Given the description of an element on the screen output the (x, y) to click on. 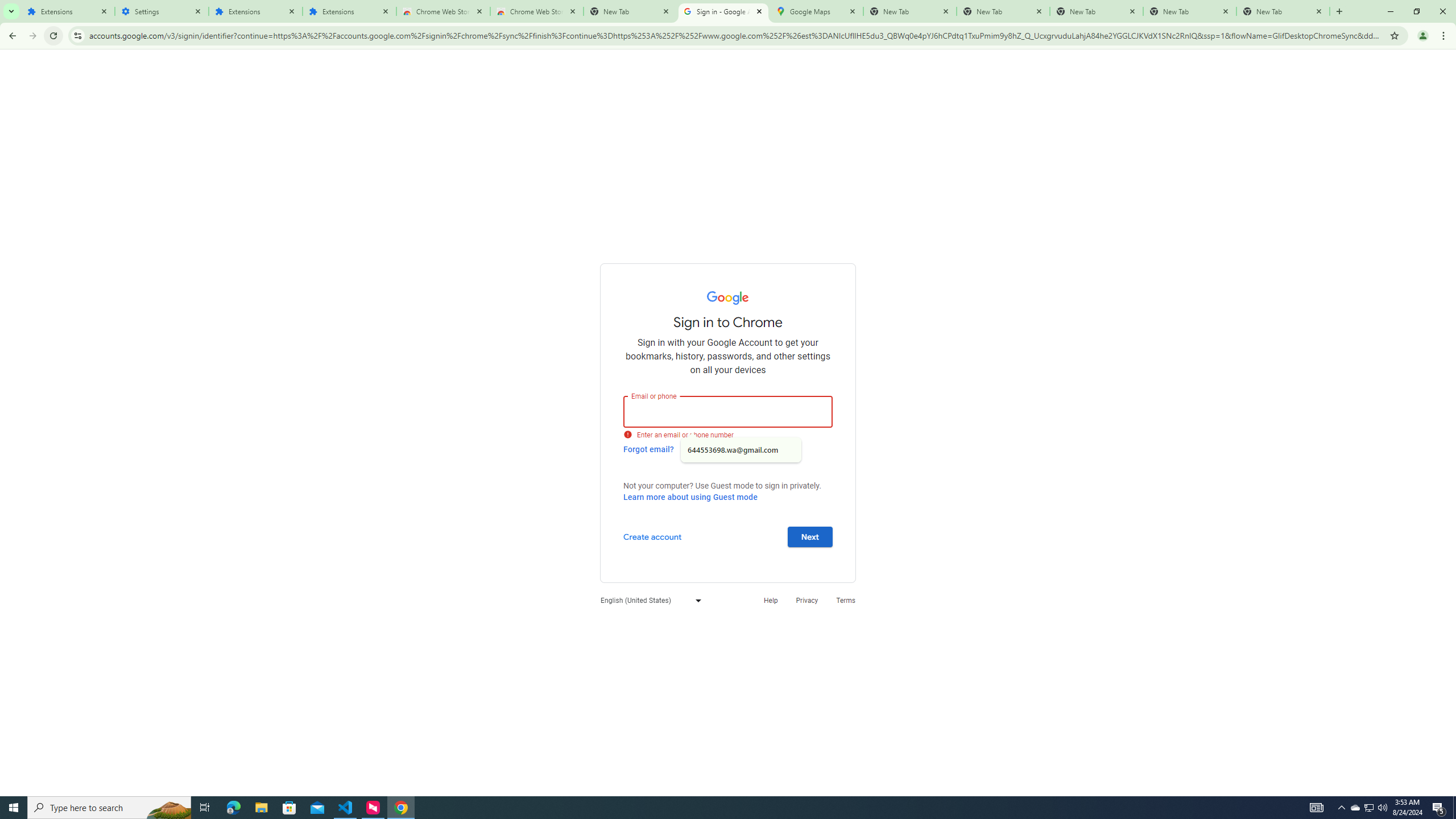
New Tab (629, 11)
Email or phone (727, 411)
Address and search bar (735, 35)
Privacy (806, 600)
Chrome (1445, 35)
Extensions (67, 11)
644553698.wa@gmail.com (740, 449)
Next (809, 536)
Chrome Web Store (443, 11)
English (United States) (647, 600)
Chrome Web Store - Themes (536, 11)
Back (10, 35)
Extensions (349, 11)
